Given the description of an element on the screen output the (x, y) to click on. 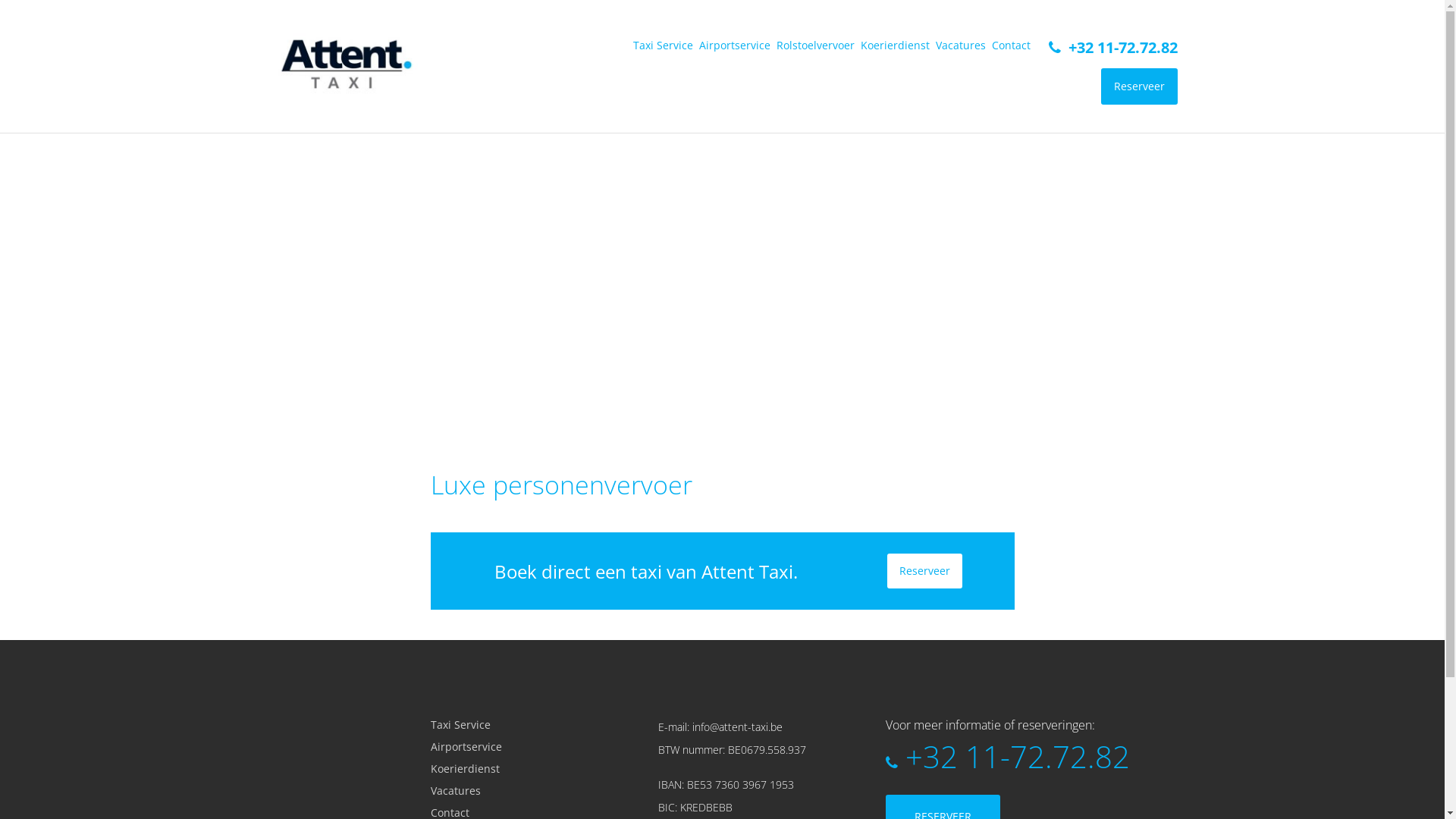
Airportservice Element type: text (487, 746)
Reserveer Element type: text (924, 570)
Rolstoelvervoer Element type: text (815, 45)
Contact Element type: text (1010, 45)
Taxi Service Element type: text (662, 45)
Koerierdienst Element type: text (893, 45)
Koerierdienst Element type: text (487, 768)
Reserveer Element type: text (1139, 86)
+32 11-72.72.82 Element type: text (1017, 756)
Vacatures Element type: text (960, 45)
Attent Taxi BVBA Element type: text (335, 738)
Attent Taxi BVBA Element type: text (342, 64)
+32 11-72.72.82 Element type: text (1121, 47)
Vacatures Element type: text (487, 790)
Taxi Service Element type: text (487, 724)
Airportservice Element type: text (734, 45)
Contact Element type: text (487, 812)
